Given the description of an element on the screen output the (x, y) to click on. 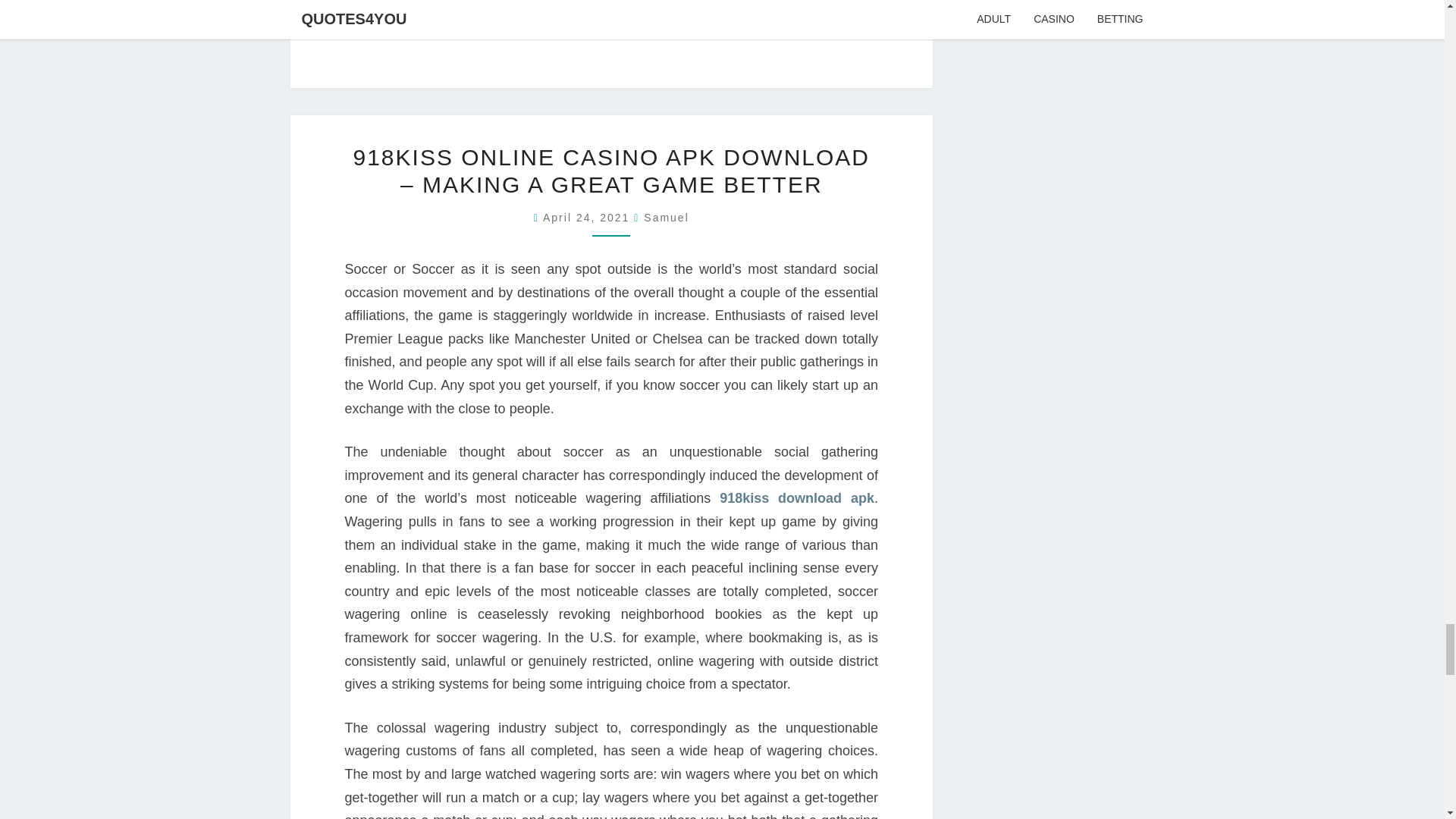
April 24, 2021 (588, 217)
